Given the description of an element on the screen output the (x, y) to click on. 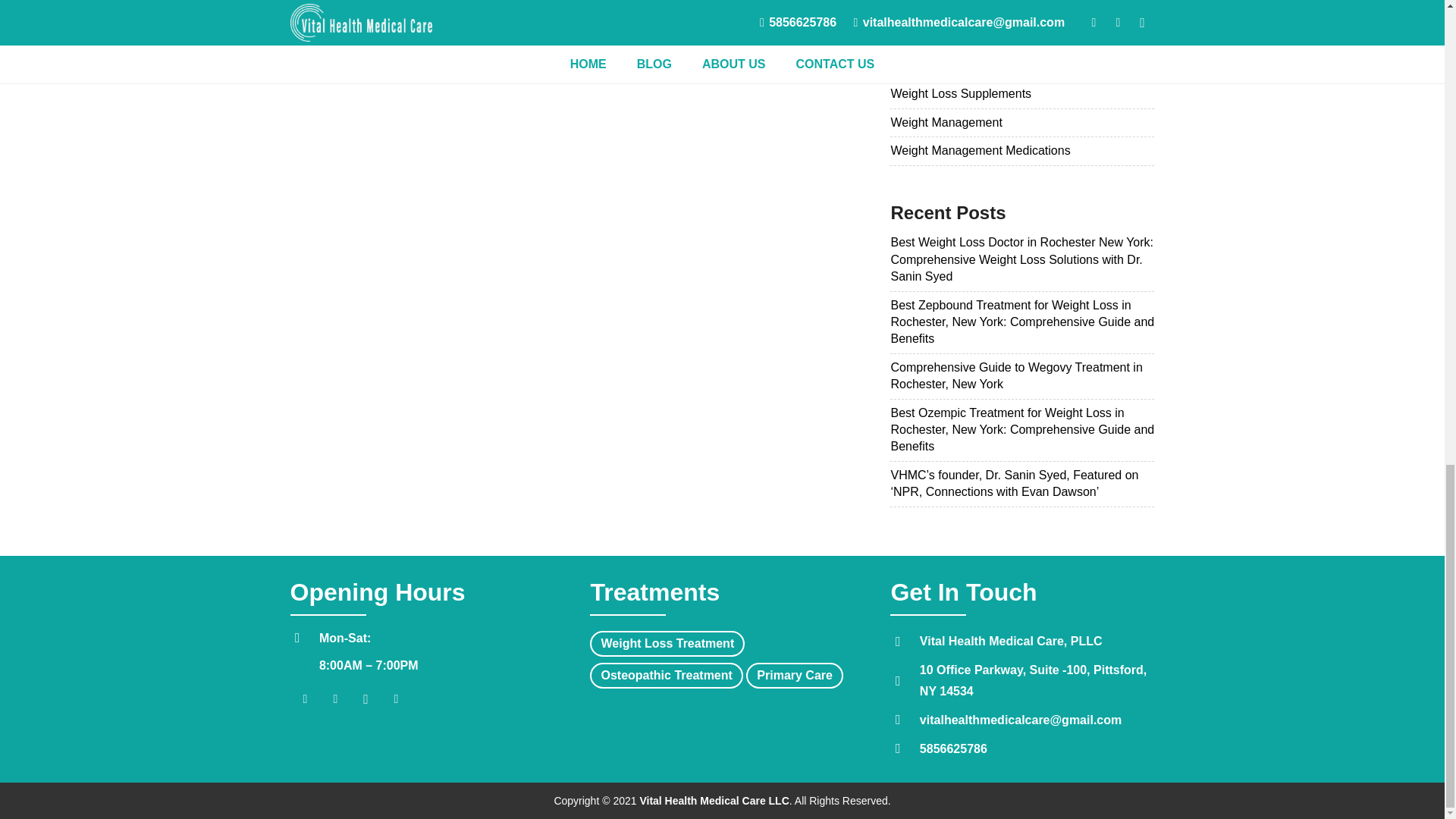
Twitter (335, 698)
LinkedIn (395, 698)
Facebook (304, 698)
Instagram (365, 698)
